Given the description of an element on the screen output the (x, y) to click on. 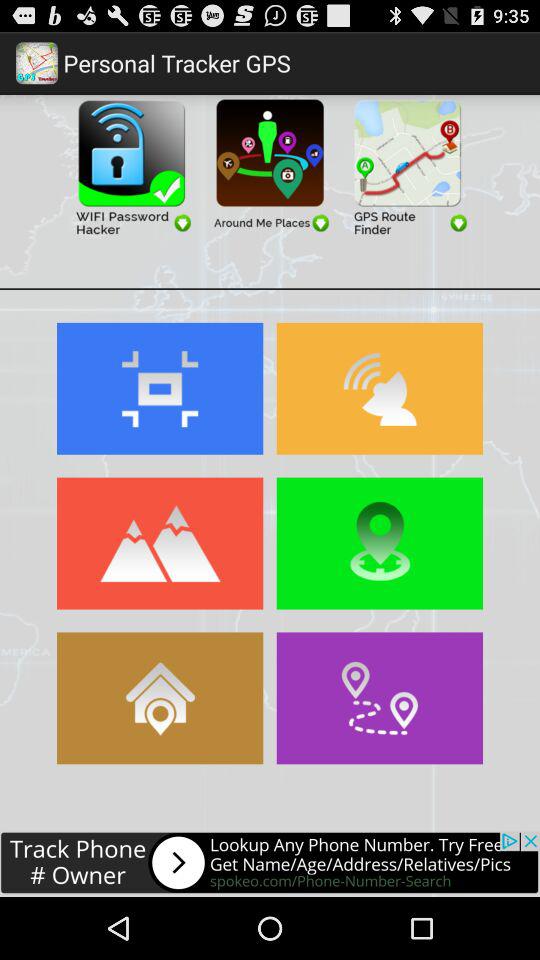
go to gps route finder (407, 165)
